Given the description of an element on the screen output the (x, y) to click on. 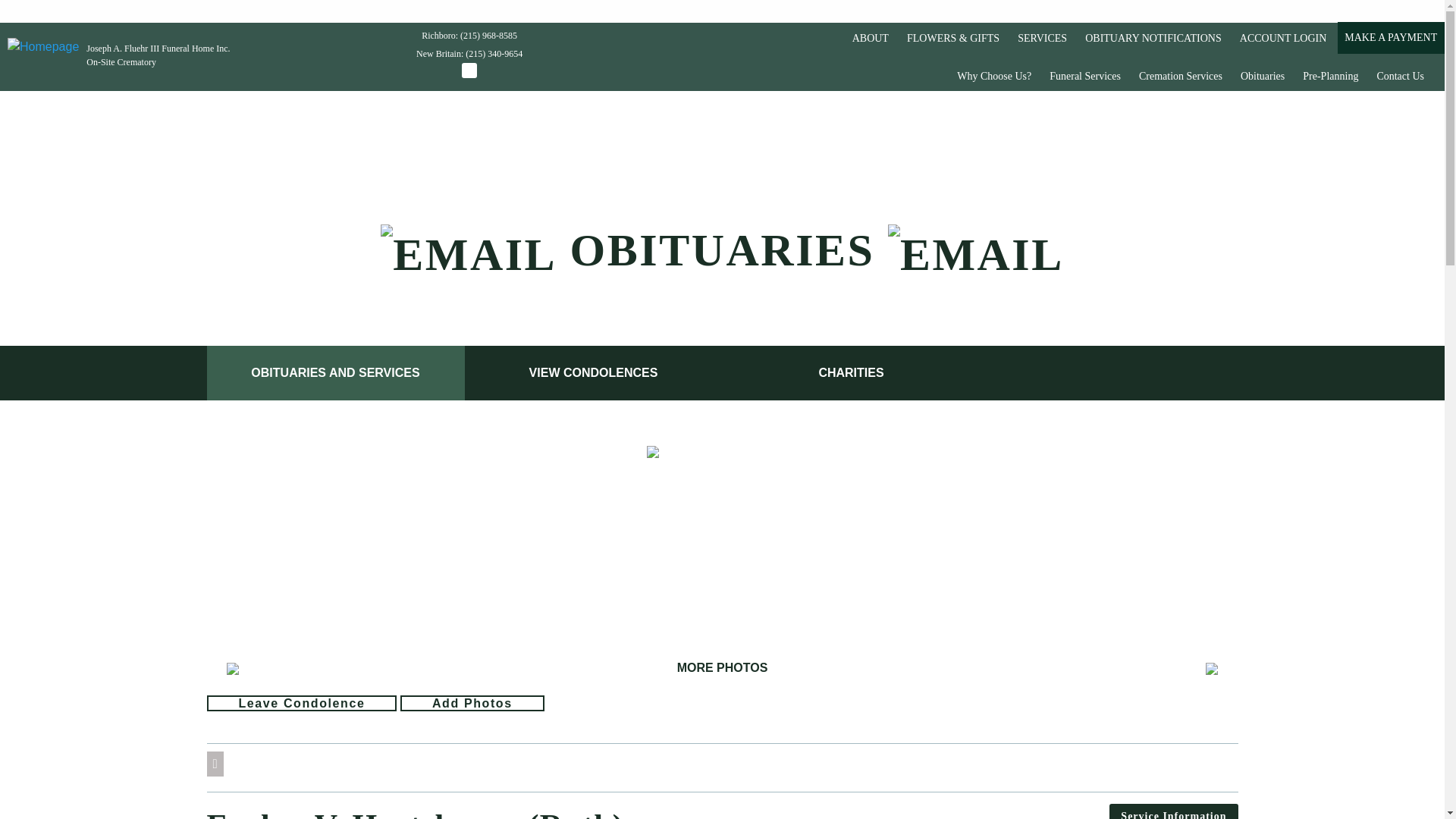
Funeral Services (1085, 76)
Cremation Services (1180, 76)
Facebook (469, 70)
ABOUT (870, 38)
Obituaries (1262, 76)
SERVICES (1042, 38)
Services (1042, 38)
ACCOUNT LOGIN (1282, 38)
Family Login (1282, 38)
OBITUARY NOTIFICATIONS (1152, 38)
